Given the description of an element on the screen output the (x, y) to click on. 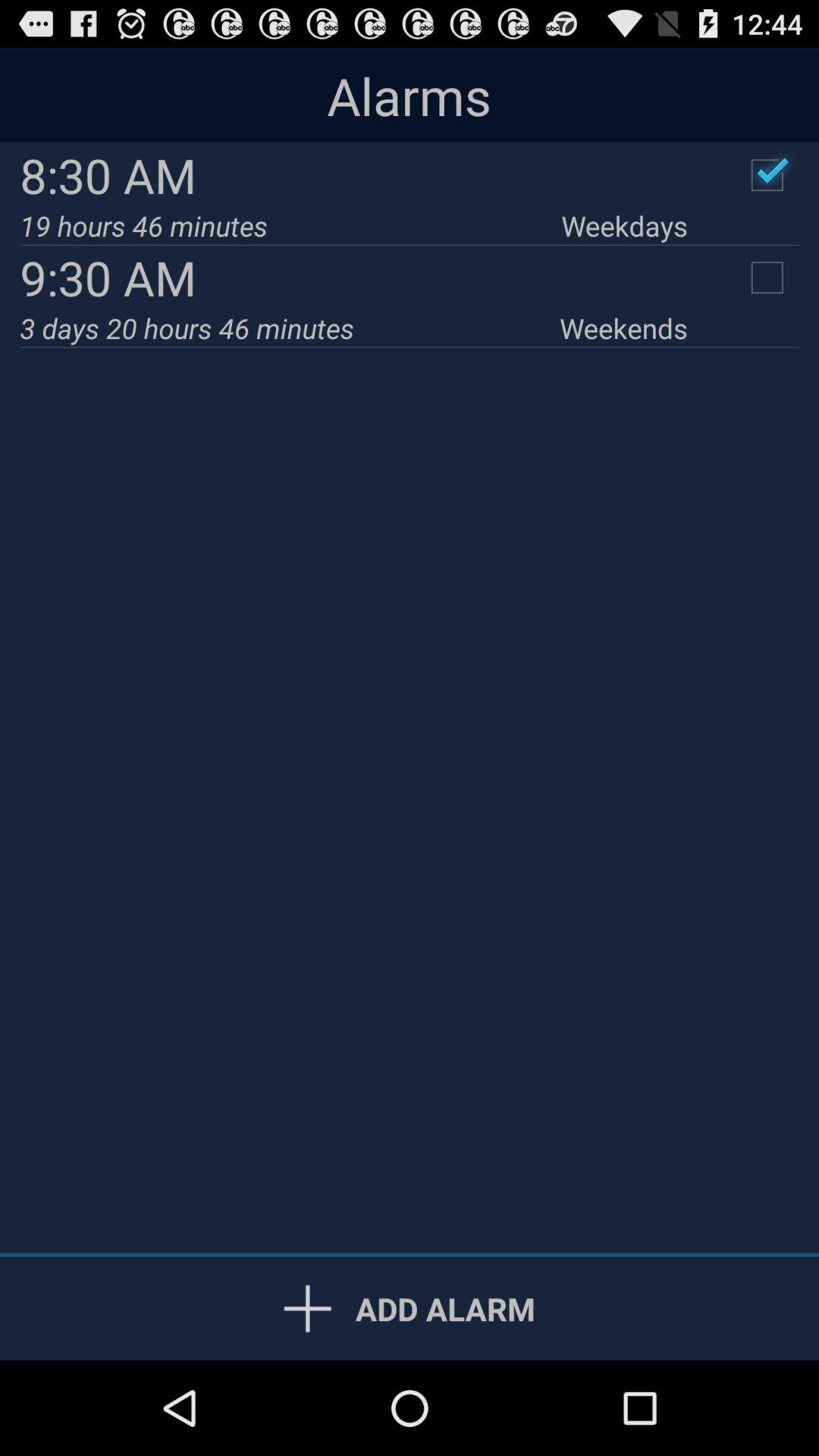
turn on the app below 8:30 am item (624, 225)
